Given the description of an element on the screen output the (x, y) to click on. 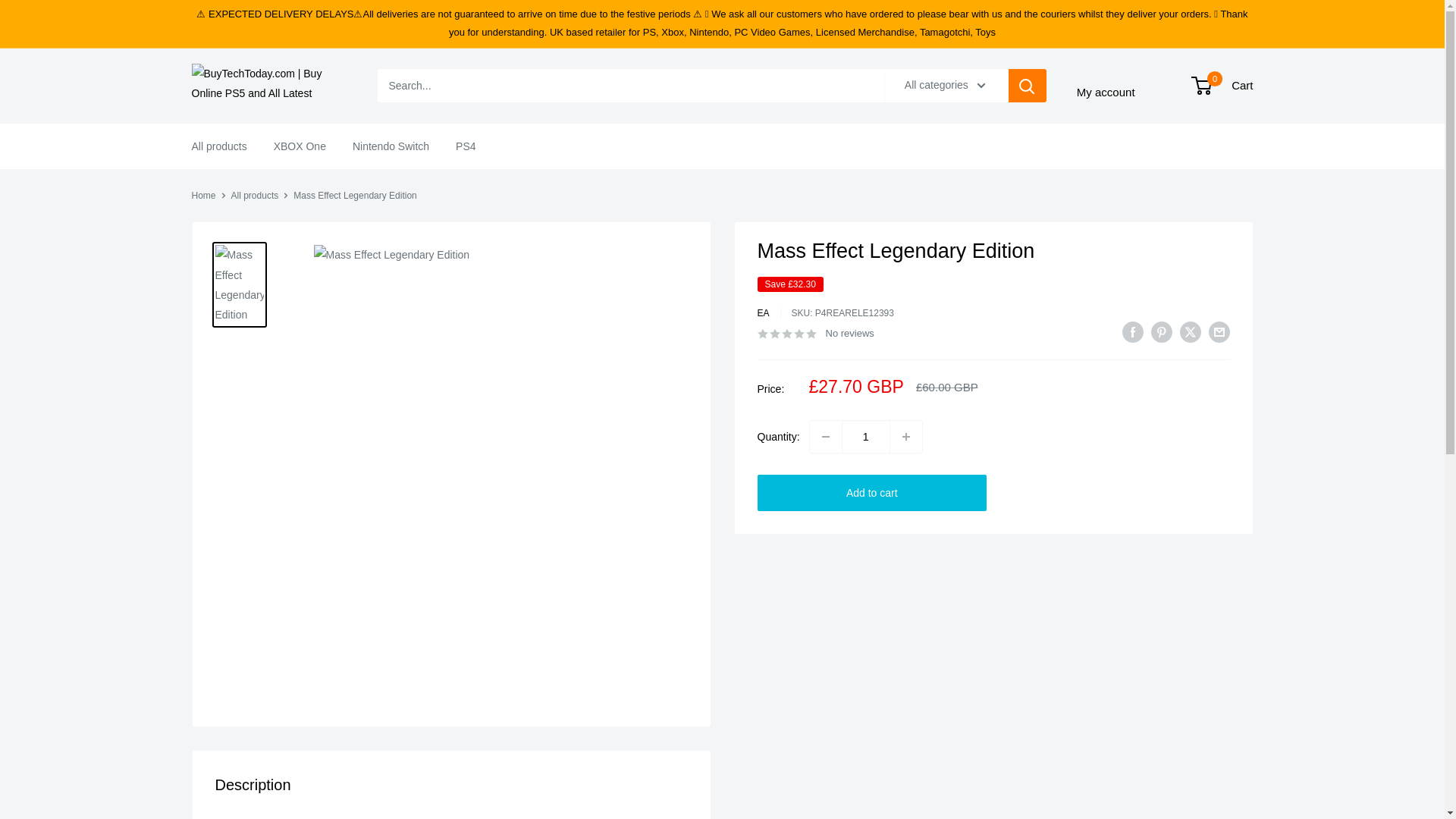
PS4 (465, 146)
Decrease quantity by 1 (825, 436)
1 (865, 436)
Buy Tech Today (268, 85)
No reviews (815, 332)
Nintendo Switch (390, 146)
XBOX One (299, 146)
EA (762, 312)
All products (218, 146)
My account (1106, 92)
Increase quantity by 1 (1222, 85)
All products (905, 436)
Add to cart (255, 195)
Home (872, 493)
